Given the description of an element on the screen output the (x, y) to click on. 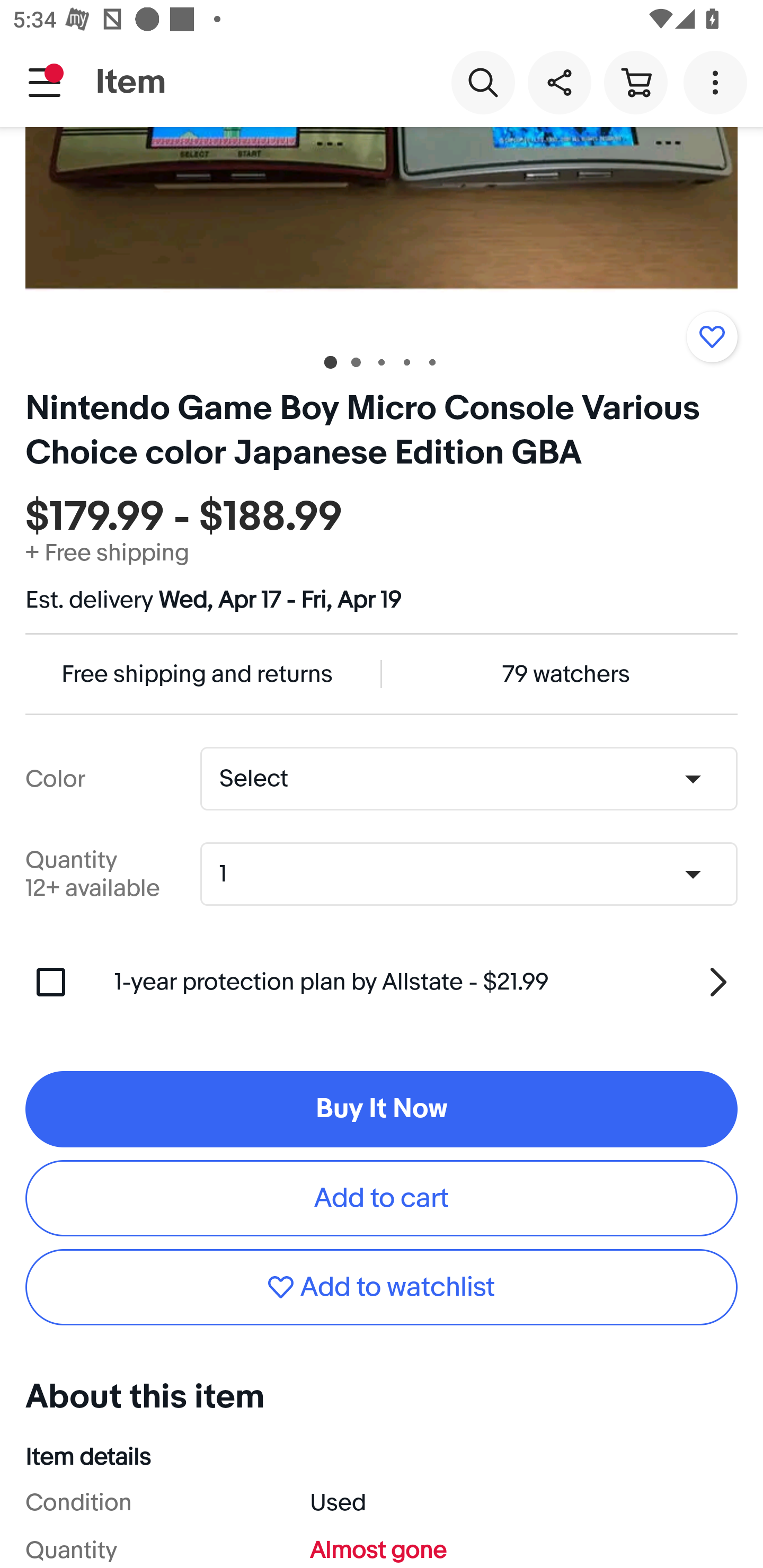
Main navigation, notification is pending, open (44, 82)
Search (482, 81)
Share this item (559, 81)
Cart button shopping cart (635, 81)
More options (718, 81)
Item image 1 of 12 (381, 232)
Add to watchlist (711, 336)
Color,No selection Select (468, 778)
Quantity,1,12+ available 1 (474, 873)
1-year protection plan by Allstate - $21.99 (425, 981)
Buy It Now (381, 1108)
Add to cart (381, 1198)
Add to watchlist (381, 1286)
